Given the description of an element on the screen output the (x, y) to click on. 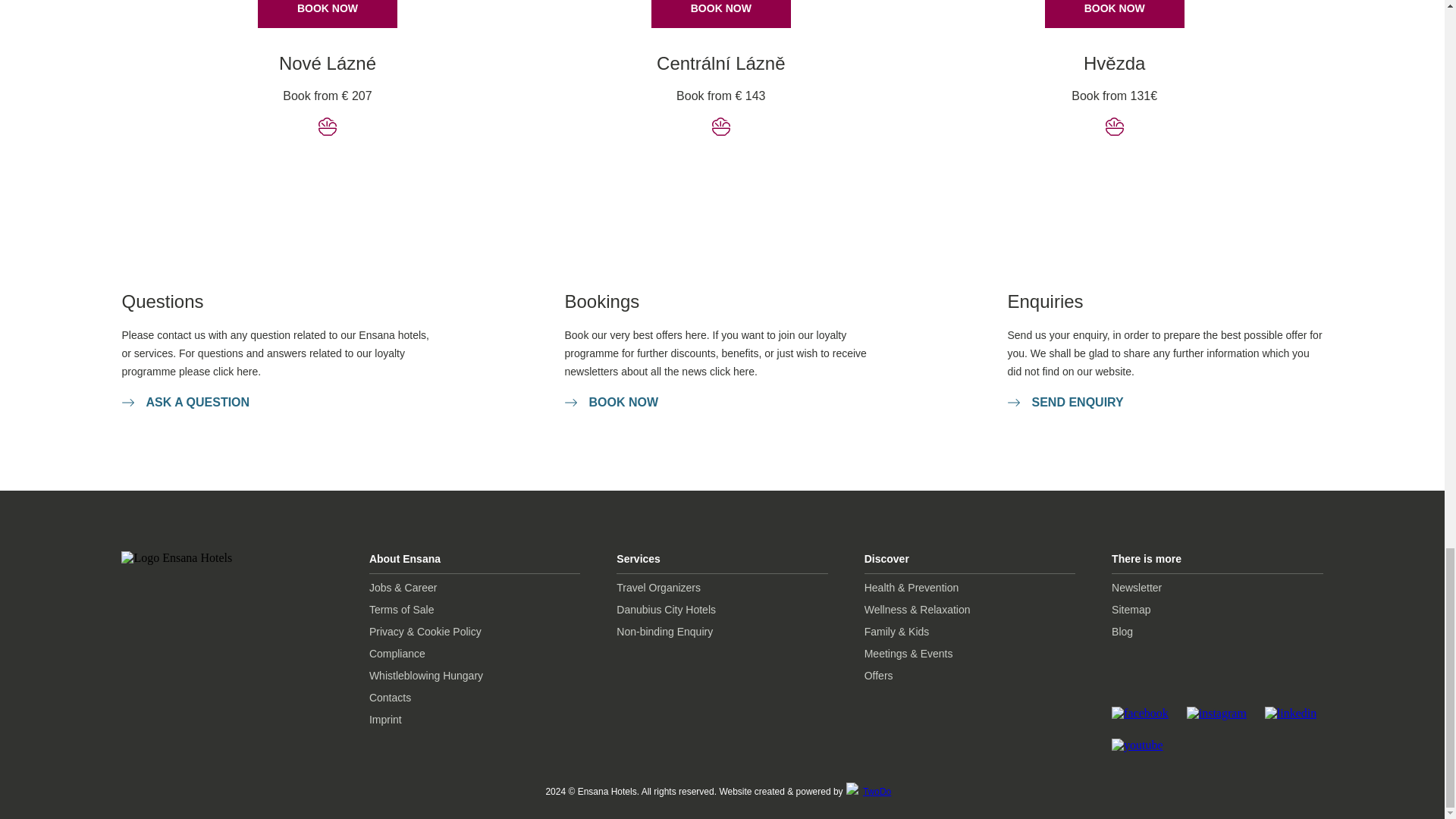
Blog (1217, 631)
Terms of Sale (474, 609)
BOOK NOW (327, 13)
Compliance (474, 653)
Contacts (474, 697)
BOOK NOW (720, 13)
Whistleblowing Hungary (474, 675)
Sitemap (1217, 609)
BOOK NOW (611, 402)
Newsletter (1217, 587)
